Given the description of an element on the screen output the (x, y) to click on. 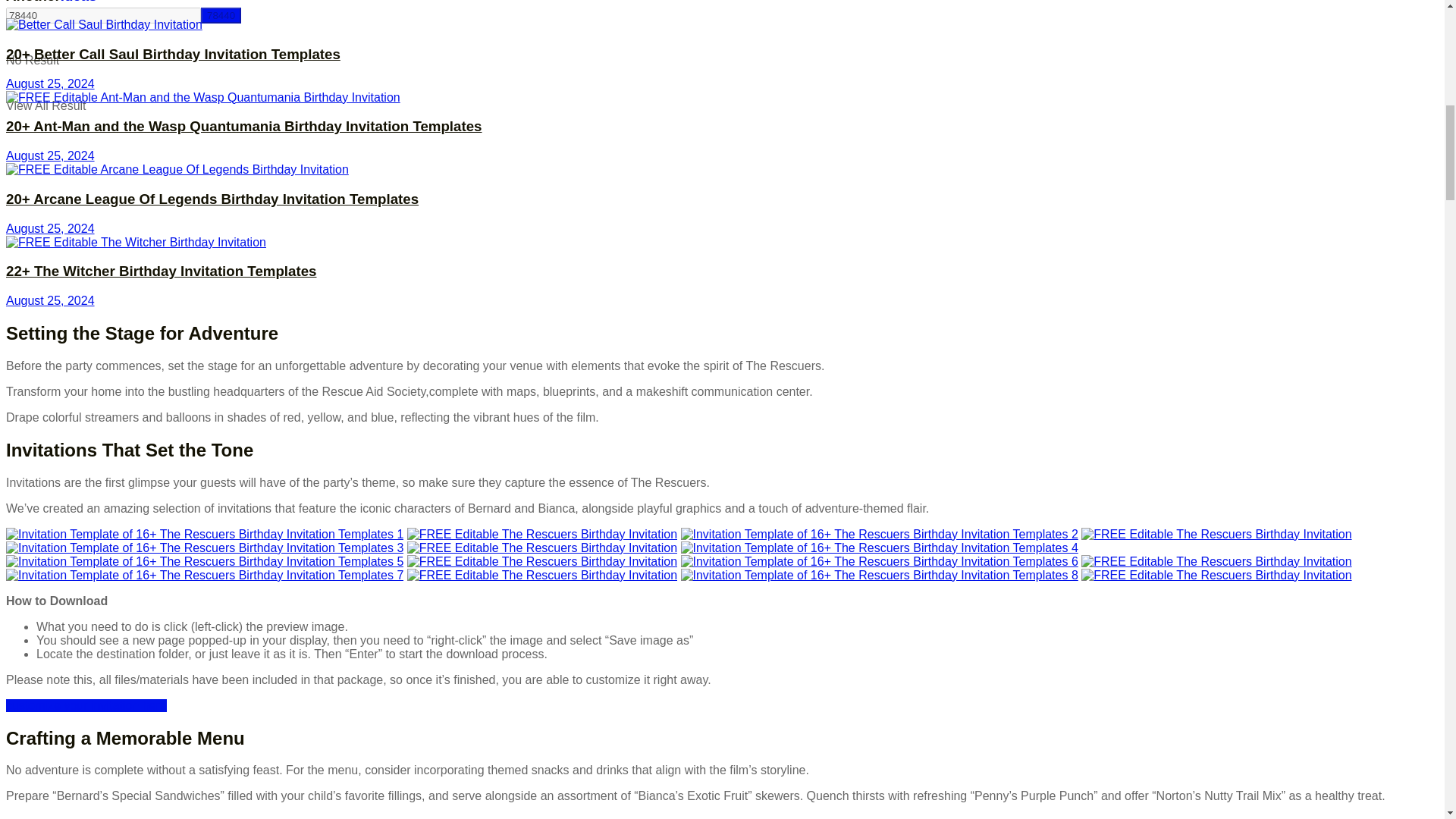
78440 (220, 15)
78440 (102, 15)
78440 (220, 15)
78440 (102, 15)
78440 (220, 15)
